Given the description of an element on the screen output the (x, y) to click on. 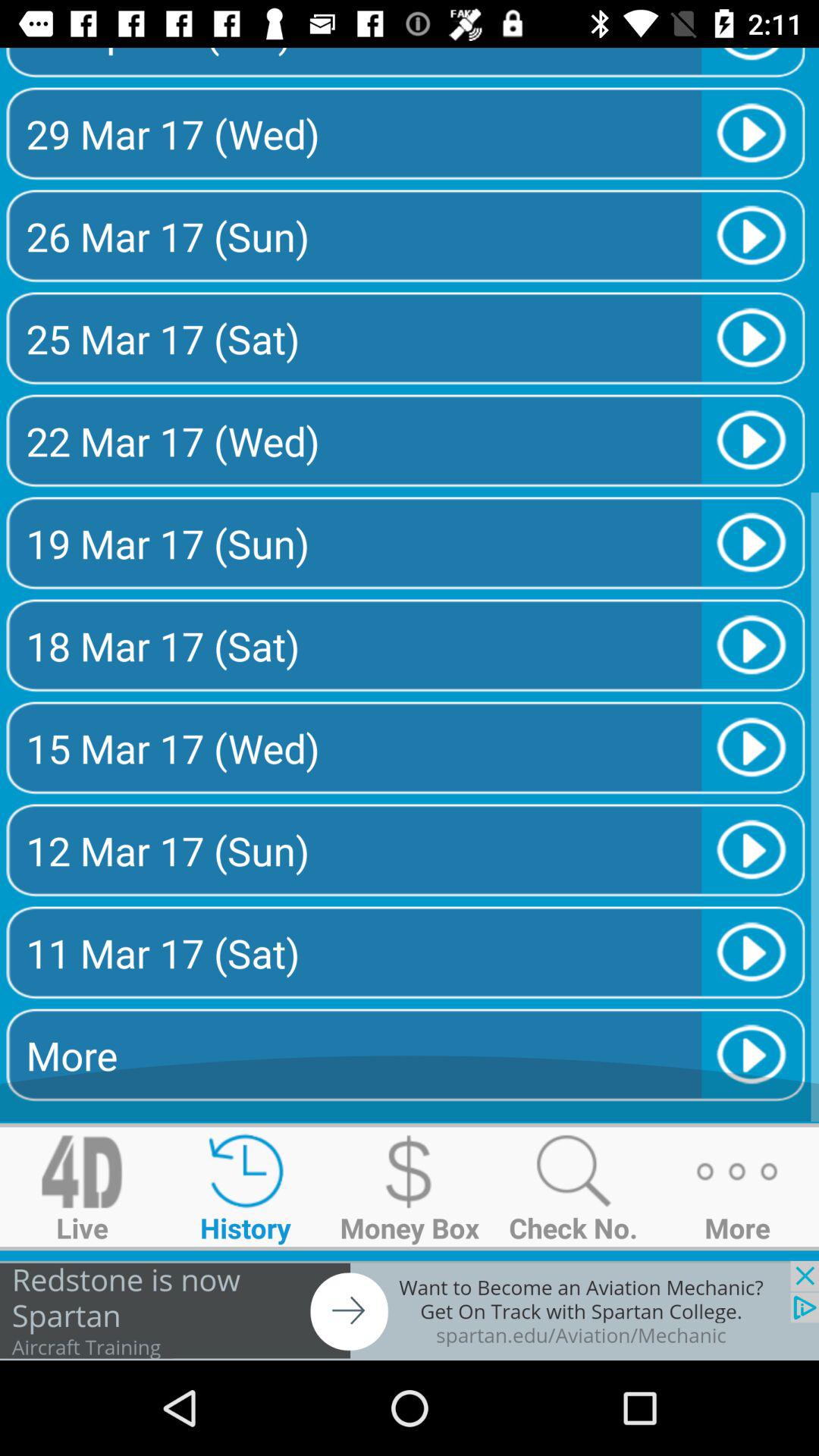
advertisement (409, 1310)
